Given the description of an element on the screen output the (x, y) to click on. 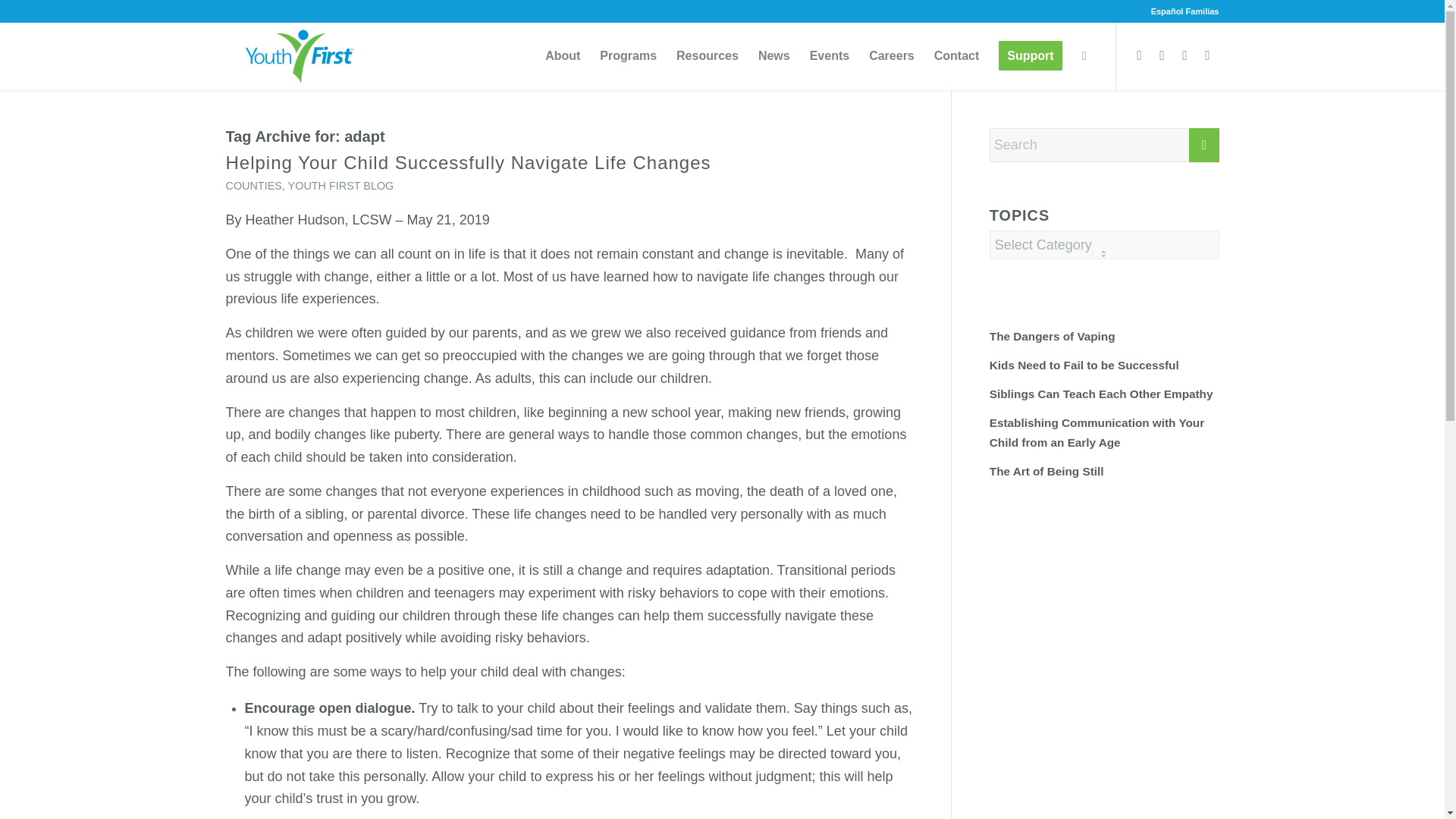
Instagram (1184, 55)
Read: Siblings Can Teach Each Other Empathy (1101, 393)
Youtube (1208, 55)
Read: The Dangers of Vaping (1052, 336)
Programs (627, 56)
Read: Kids Need to Fail to be Successful (1084, 364)
X (1162, 55)
Facebook (1139, 55)
